Given the description of an element on the screen output the (x, y) to click on. 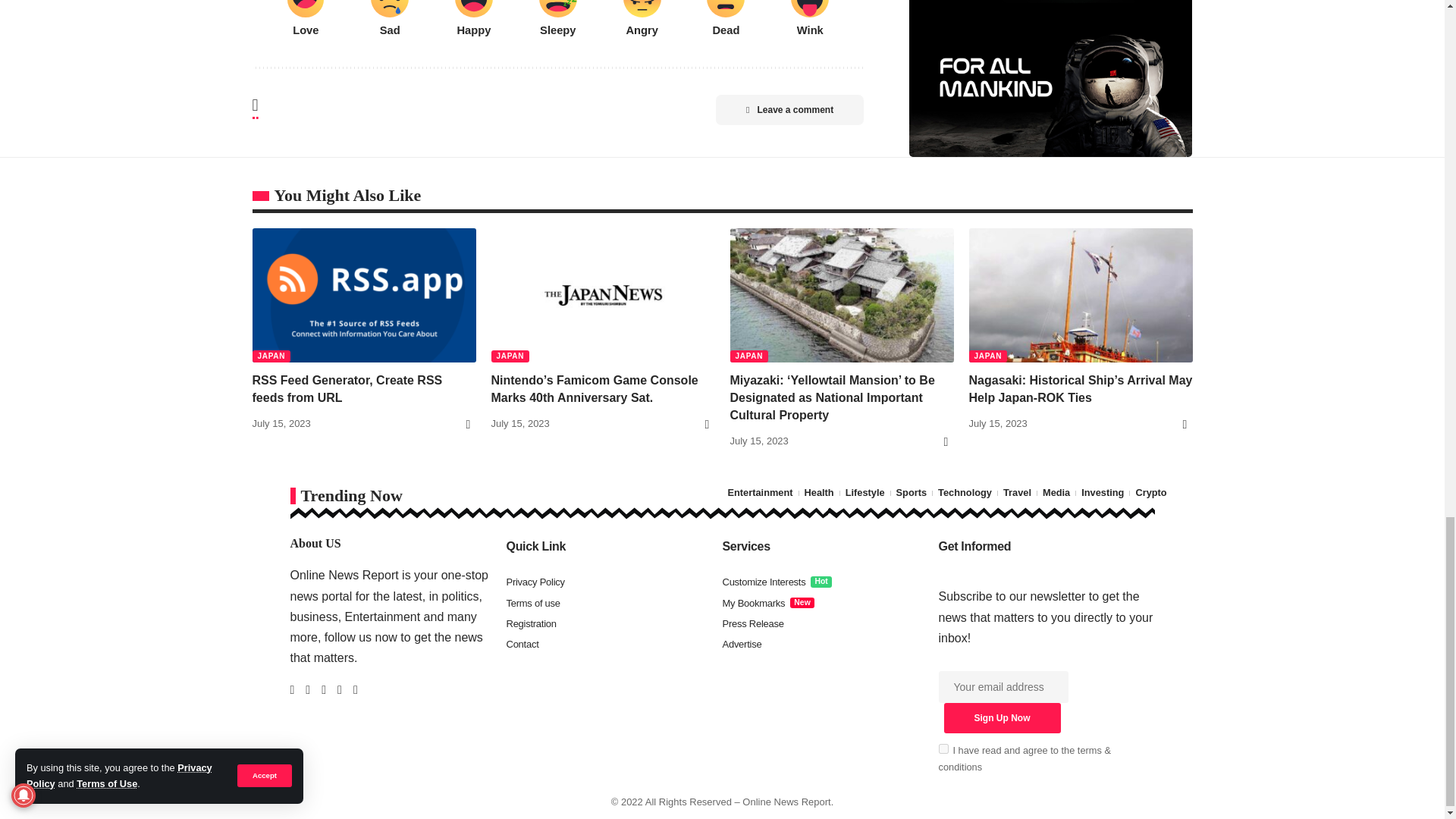
1 (944, 748)
Sign Up Now (1001, 717)
